Given the description of an element on the screen output the (x, y) to click on. 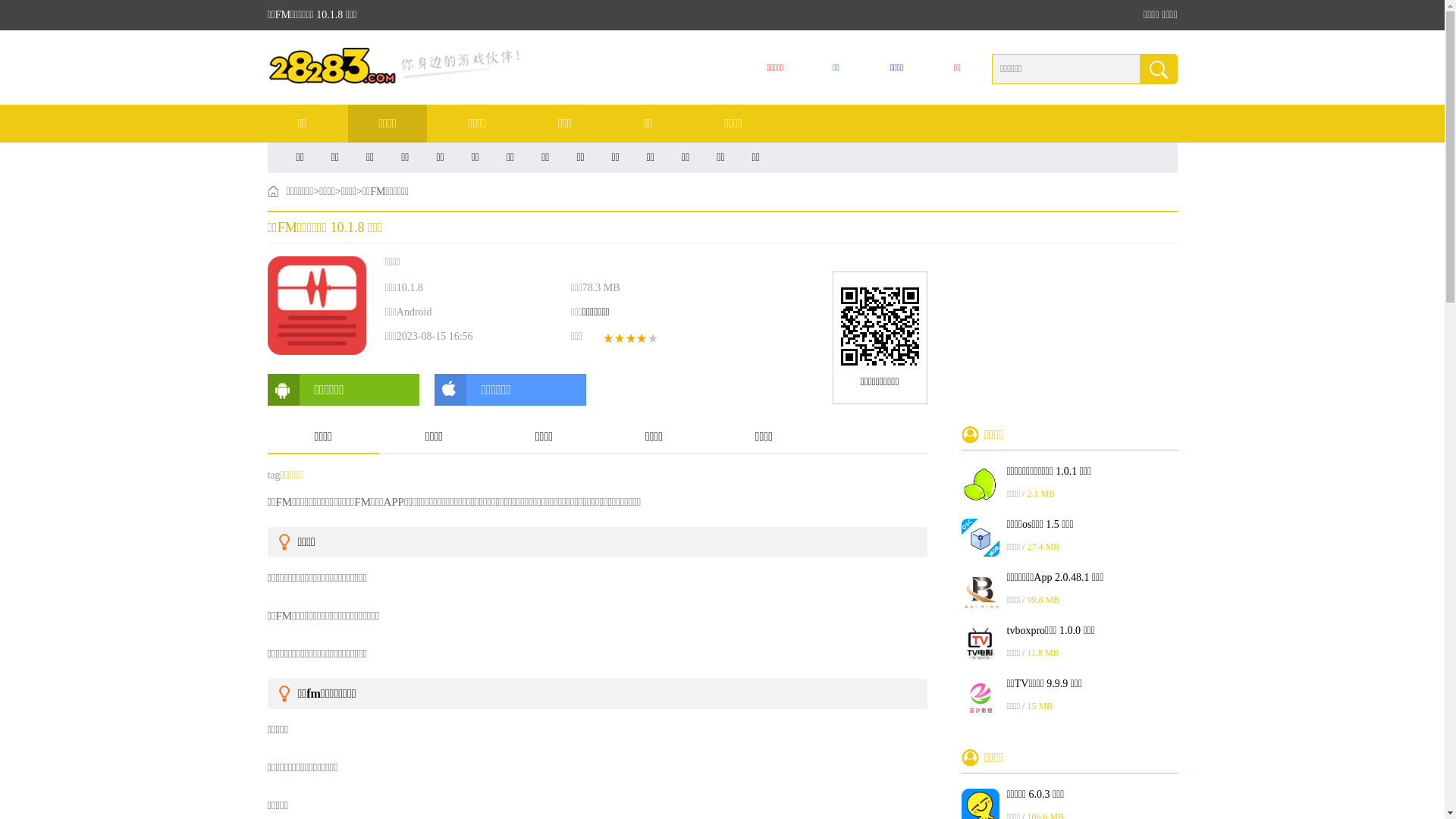
yes Element type: text (1157, 68)
